Given the description of an element on the screen output the (x, y) to click on. 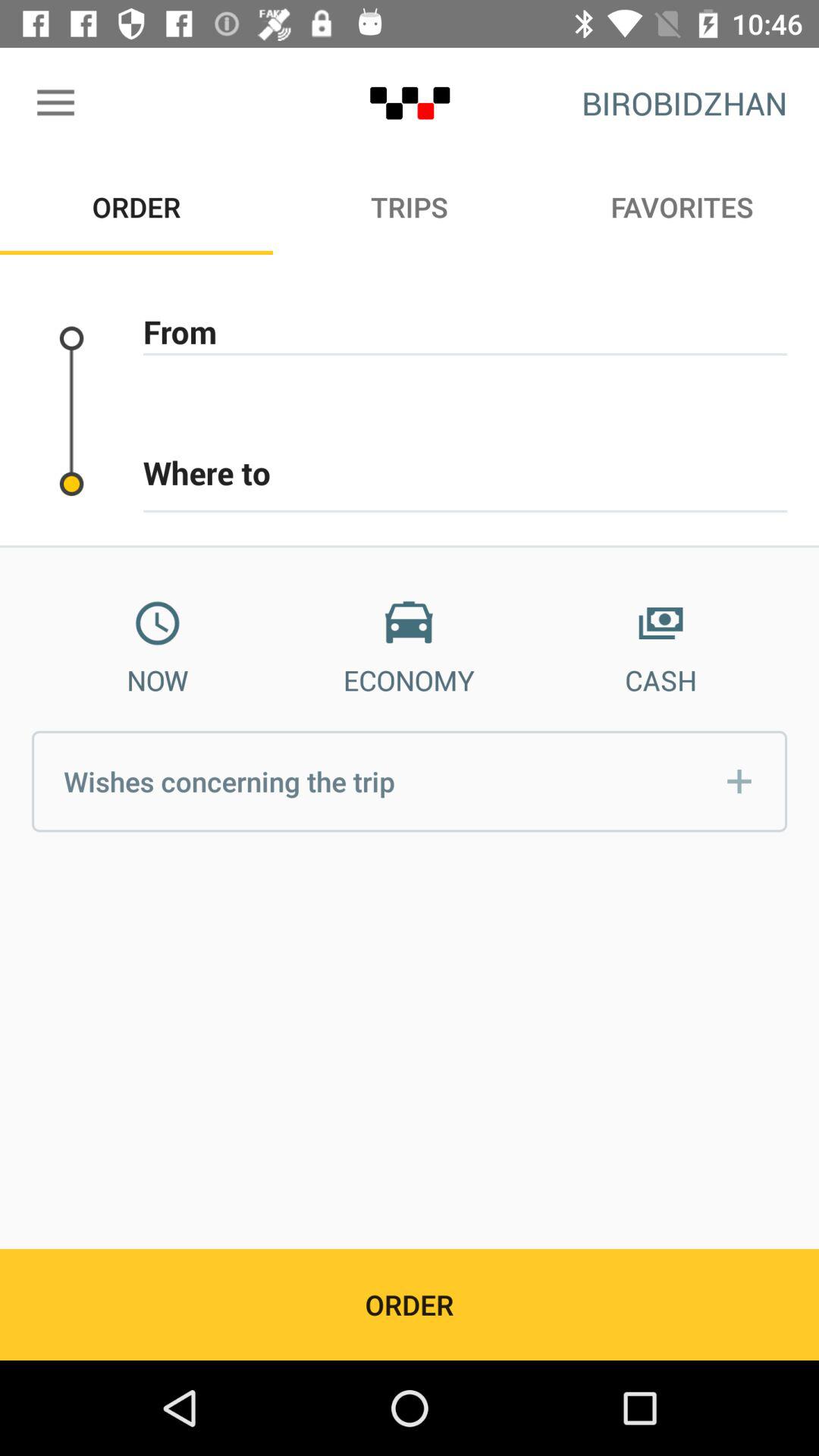
swipe to birobidzhan icon (684, 102)
